Given the description of an element on the screen output the (x, y) to click on. 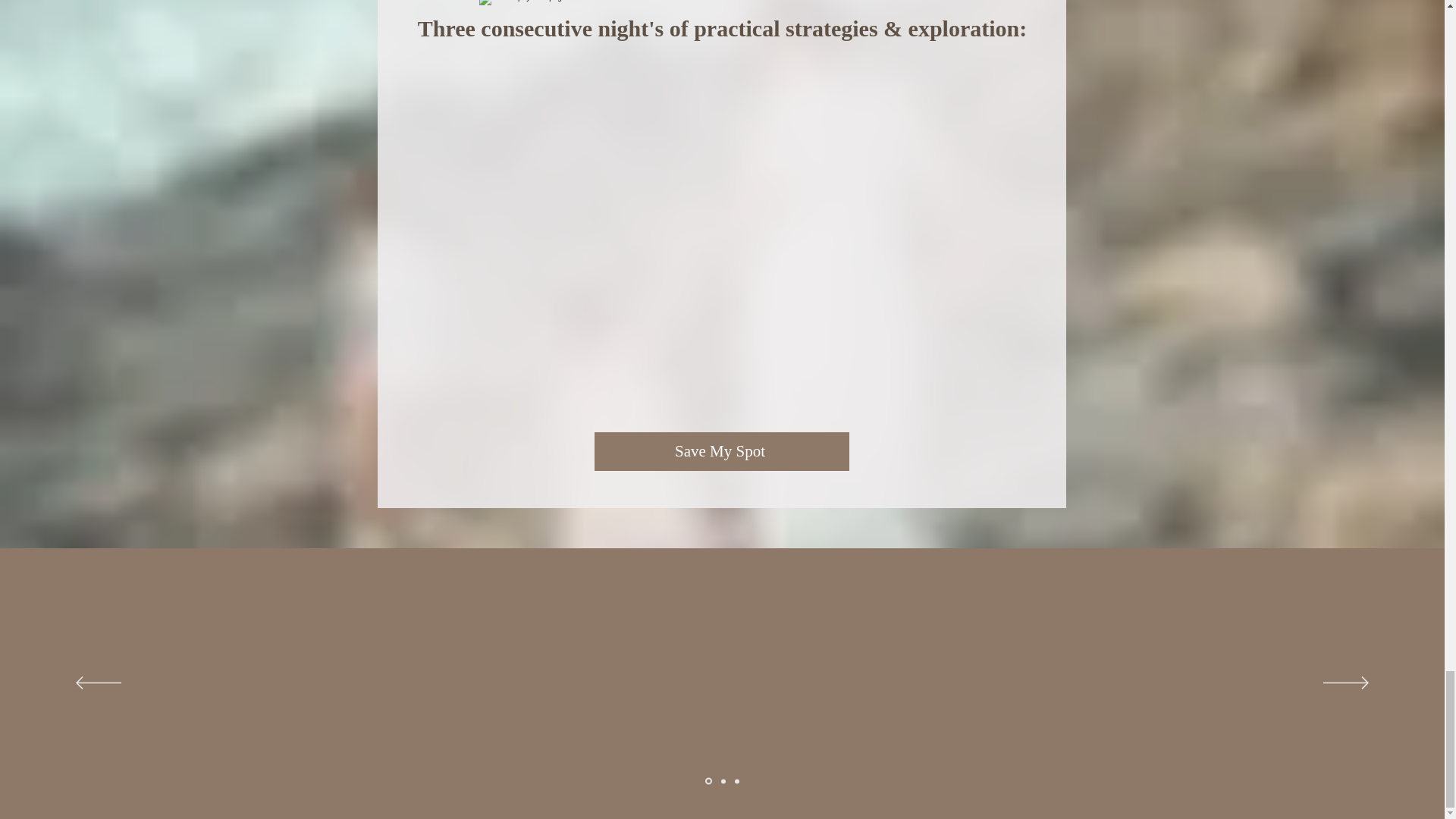
Save My Spot (721, 451)
